Given the description of an element on the screen output the (x, y) to click on. 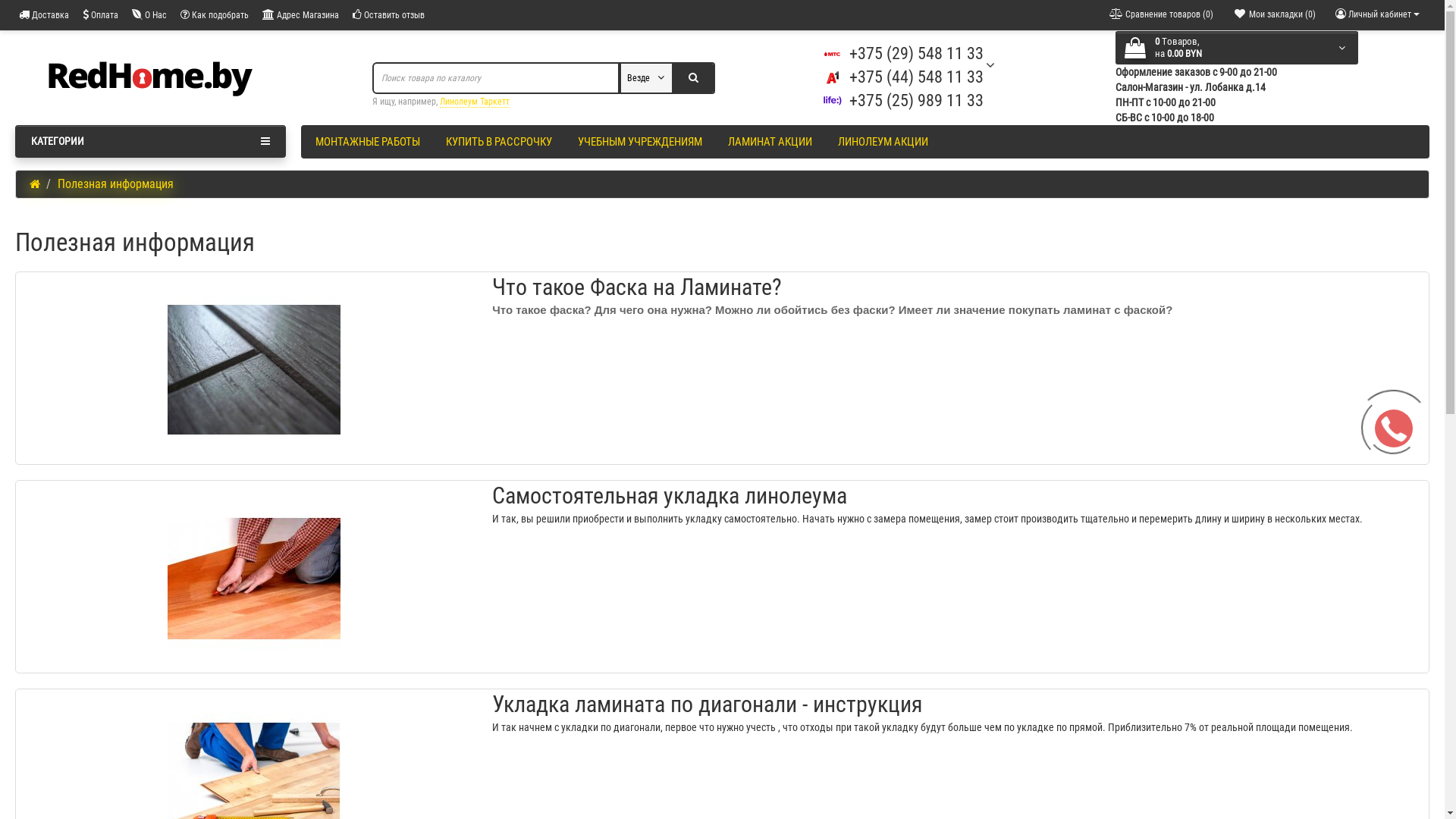
Redhome.by Element type: hover (150, 77)
